Given the description of an element on the screen output the (x, y) to click on. 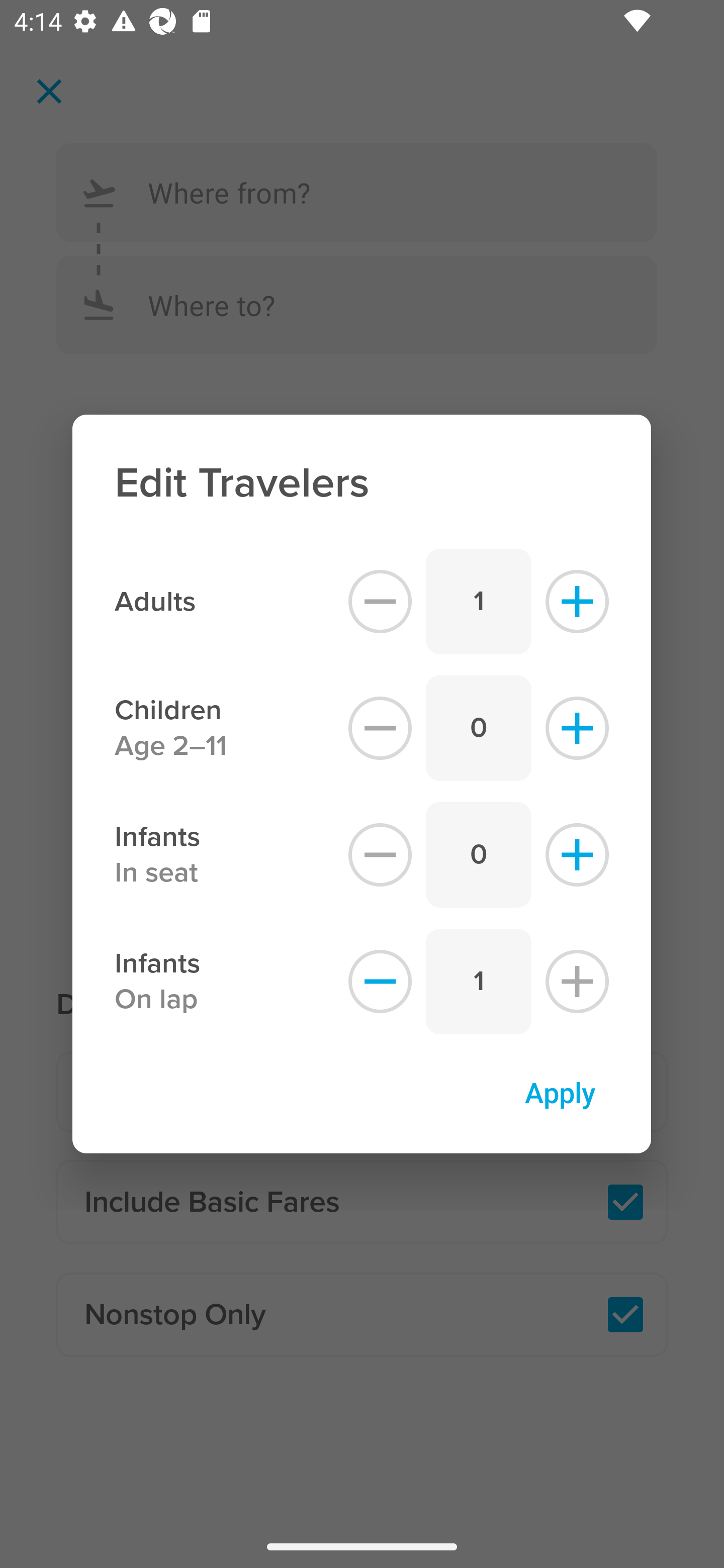
Decrease value (379, 600)
Increase value (576, 600)
Decrease value (379, 727)
Increase value (576, 727)
Decrease value (379, 854)
Increase value (576, 854)
Decrease value (379, 981)
Increase value (576, 981)
Apply (559, 1091)
